Given the description of an element on the screen output the (x, y) to click on. 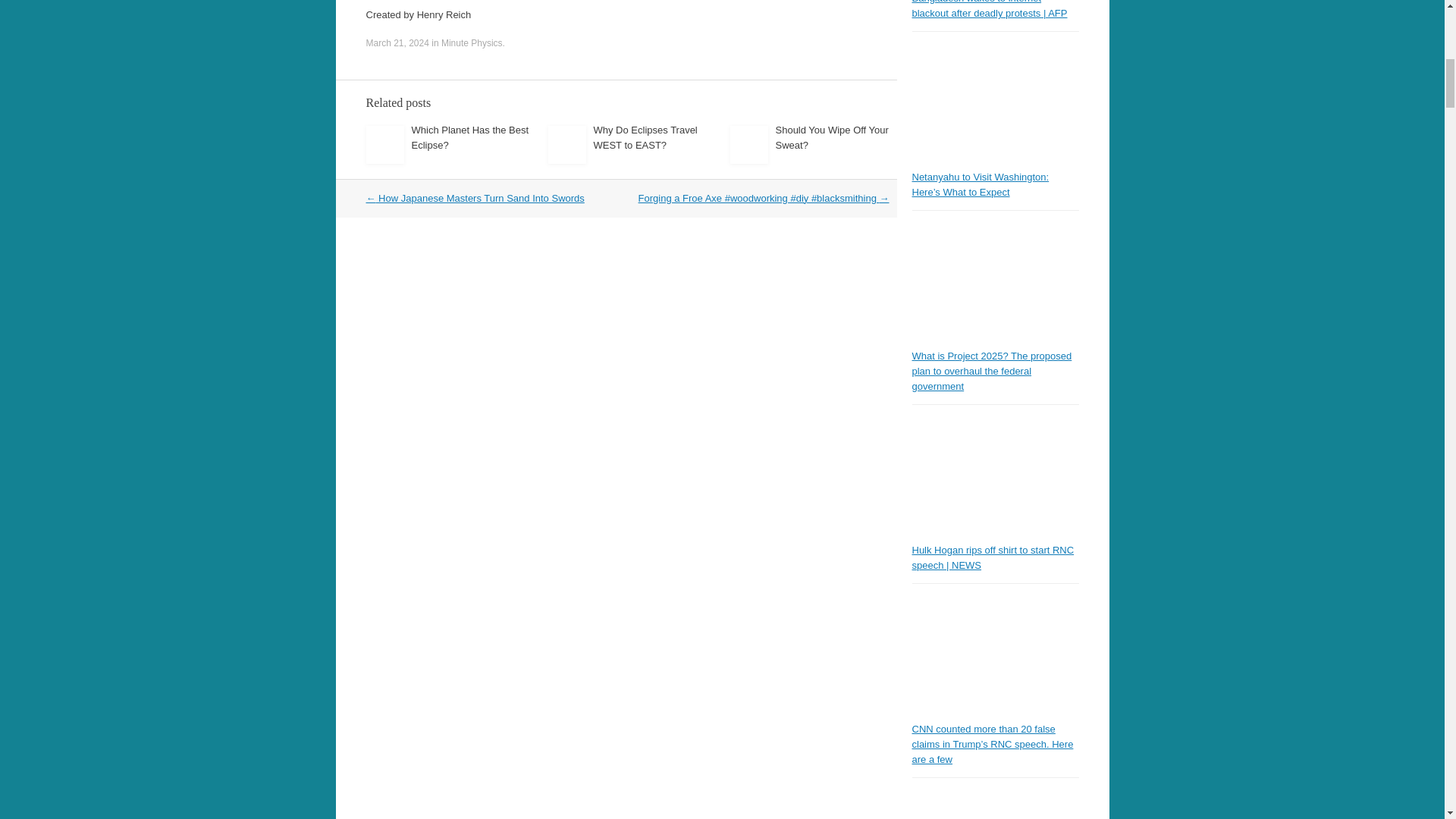
Permalink to Which Planet Has the Best Eclipse? (469, 137)
Permalink to Why Do Eclipses Travel WEST to EAST? (644, 137)
Permalink to Should You Wipe Off Your Sweat? (831, 137)
March 21, 2024 (396, 42)
Should You Wipe Off Your Sweat? (831, 137)
Why Do Eclipses Travel WEST to EAST? (644, 137)
Which Planet Has the Best Eclipse? (469, 137)
Minute Physics (471, 42)
